Given the description of an element on the screen output the (x, y) to click on. 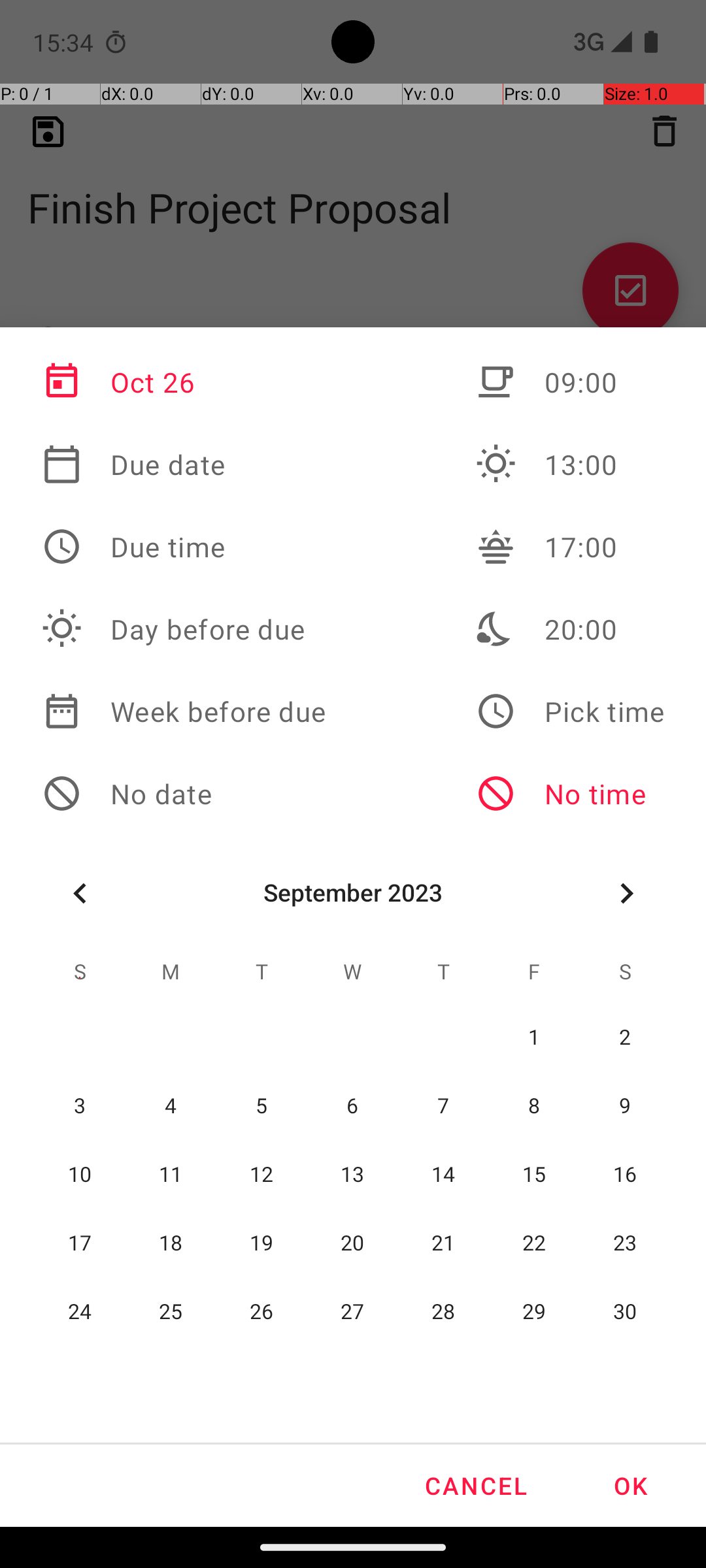
Oct 26 Element type: android.widget.CompoundButton (183, 382)
